Given the description of an element on the screen output the (x, y) to click on. 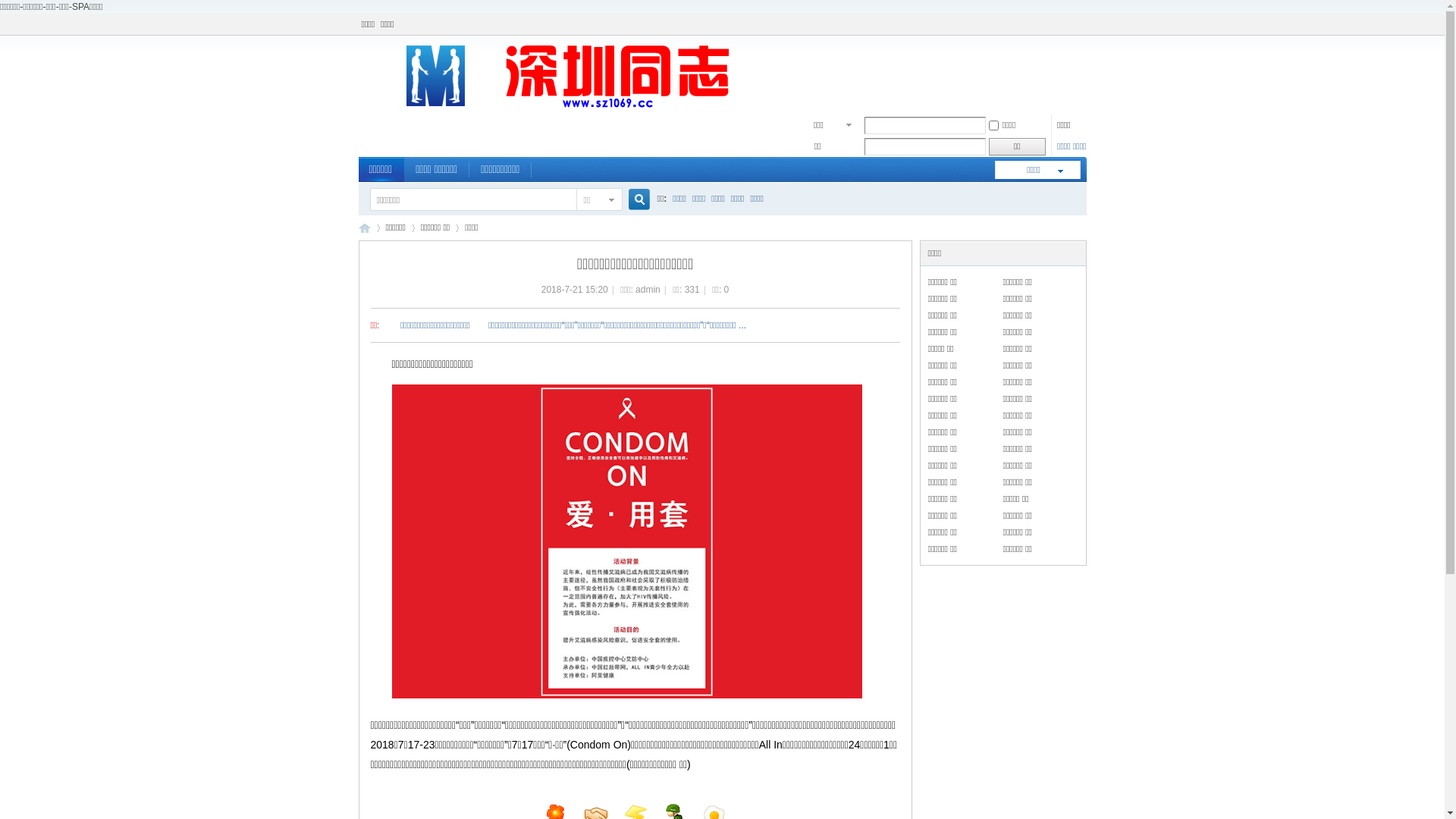
true Element type: text (632, 199)
admin Element type: text (647, 289)
